Given the description of an element on the screen output the (x, y) to click on. 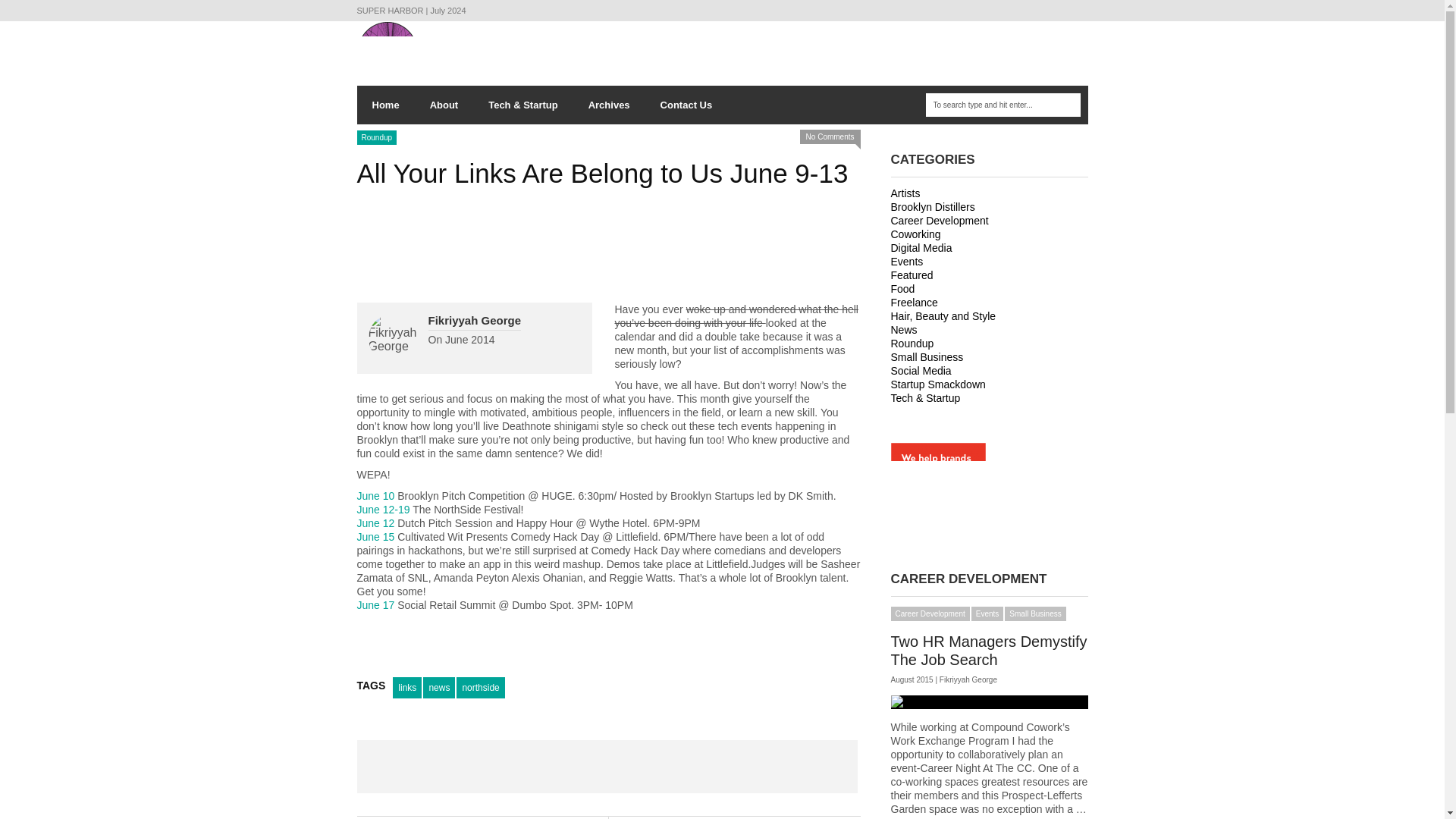
Email This (807, 766)
Fikriyyah George (474, 319)
June 15 (375, 536)
Permanent Link to Two HR Managers Demystify The Job Search (987, 650)
Share on Google Plus (607, 766)
Pin This (707, 766)
Home (384, 104)
June 12-19 (384, 509)
No Comments (829, 136)
Posts by Fikriyyah George (968, 679)
Permanent Link to Two HR Managers Demystify The Job Search (988, 702)
Share on Google Plus (607, 766)
Contact Us (686, 104)
links (407, 687)
June 17 (375, 604)
